Given the description of an element on the screen output the (x, y) to click on. 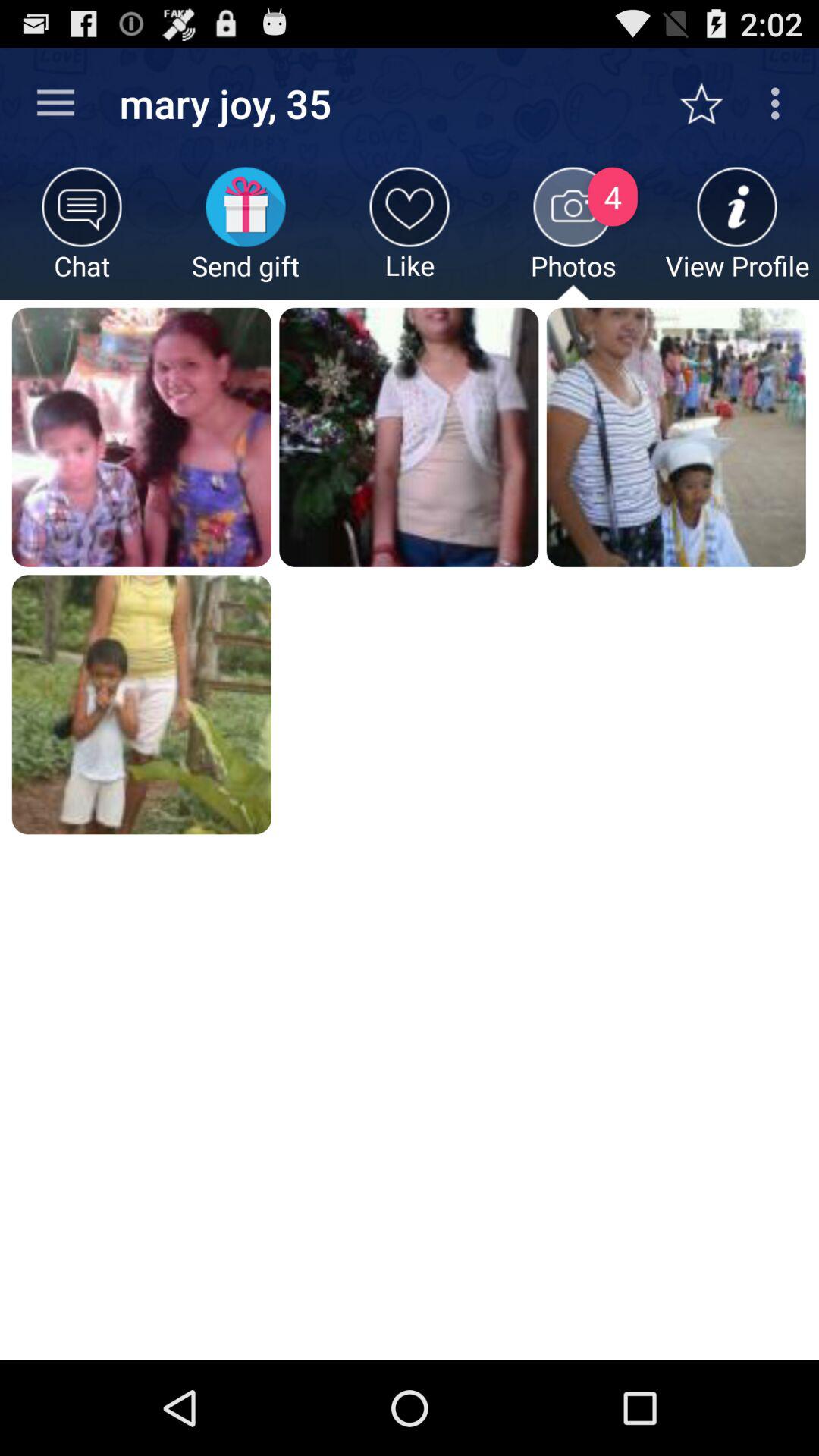
jump until the chat icon (81, 233)
